Given the description of an element on the screen output the (x, y) to click on. 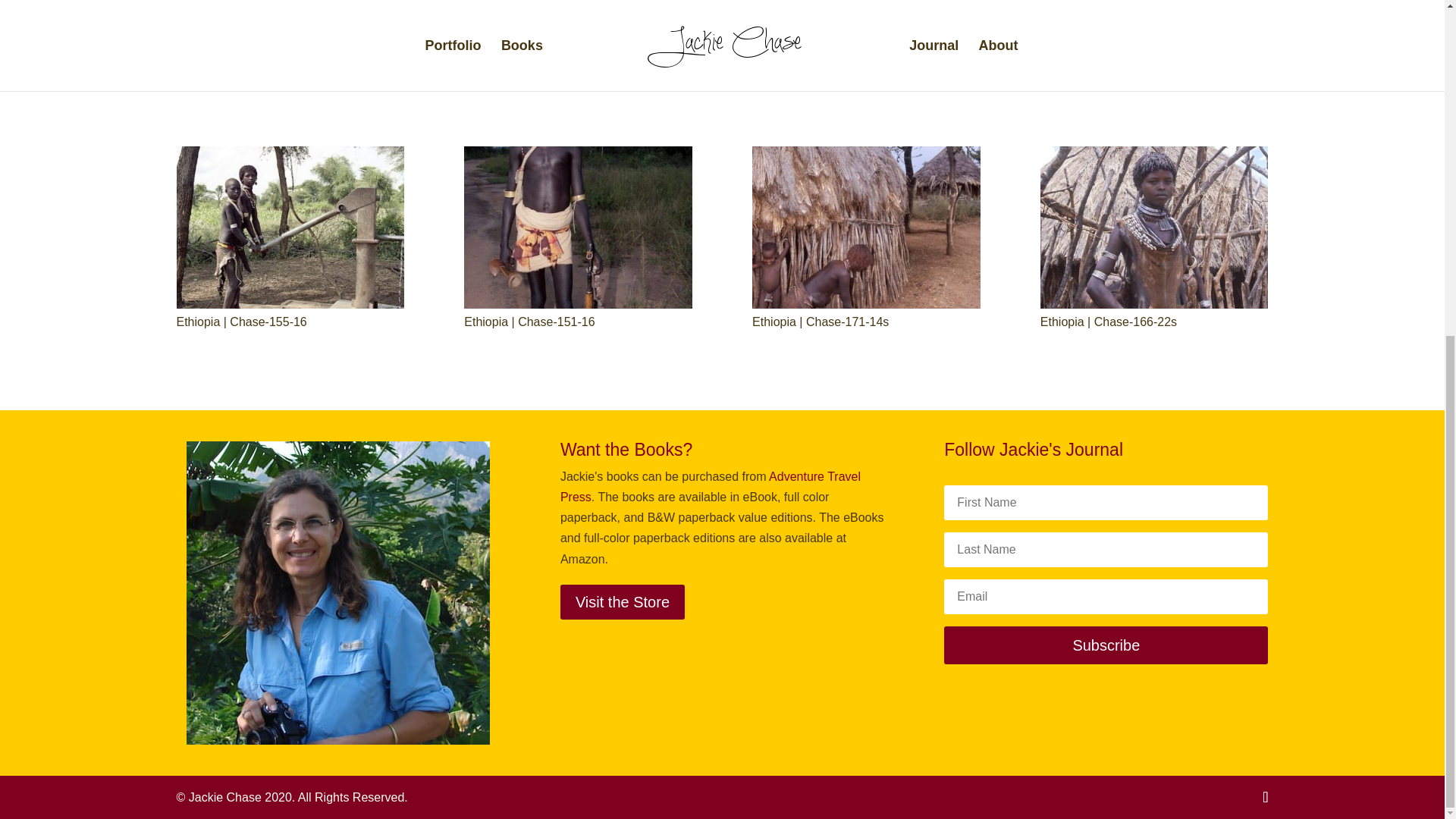
Visit the Store (622, 601)
Jackie Chase (337, 592)
Adventure Travel Press (710, 486)
Subscribe (1105, 645)
